Given the description of an element on the screen output the (x, y) to click on. 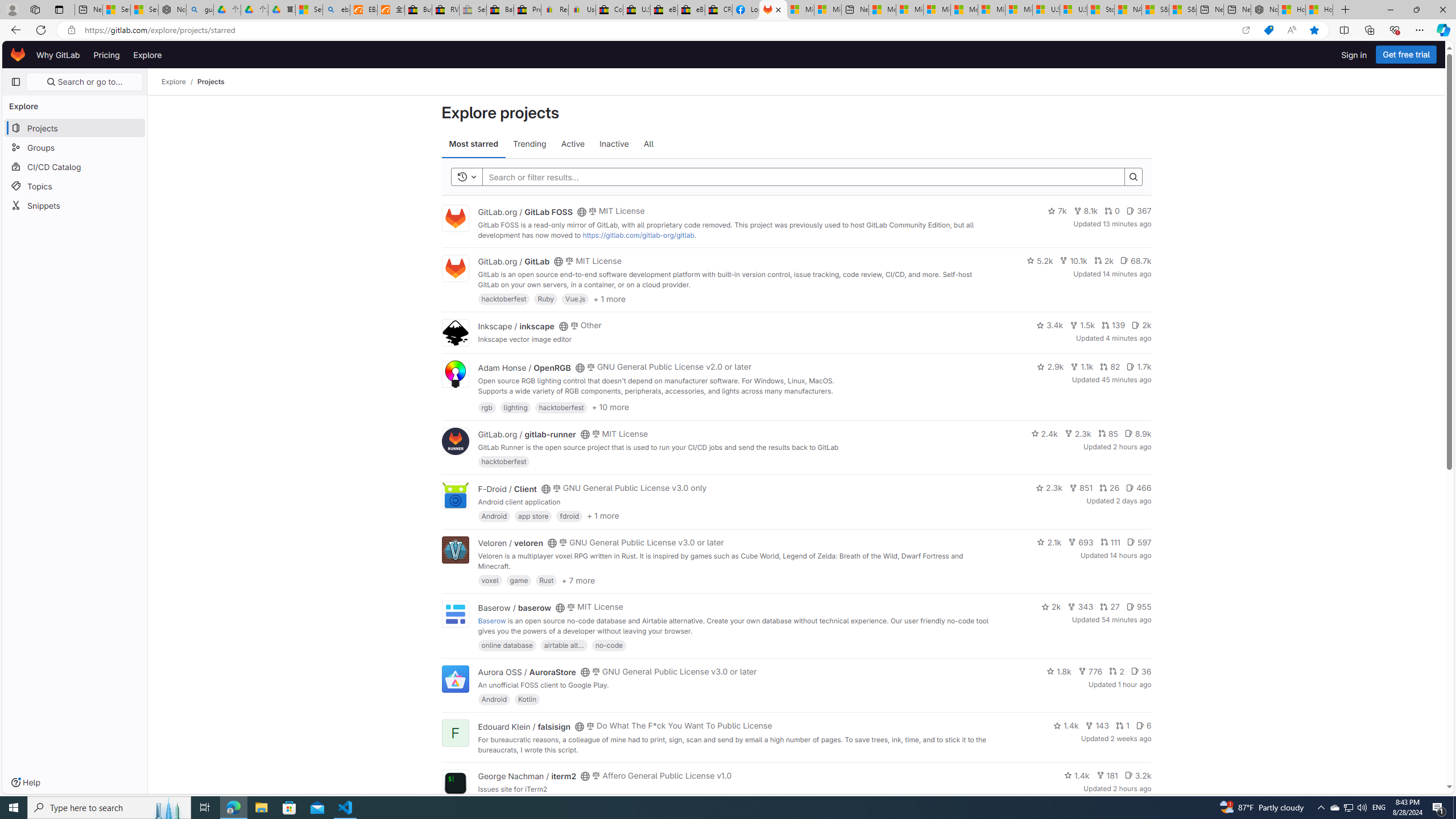
GitLab.org / gitlab-runner (526, 434)
Why GitLab (58, 54)
26 (1109, 487)
Groups (74, 147)
lighting (514, 407)
139 (1112, 325)
RV, Trailer & Camper Steps & Ladders for sale | eBay (445, 9)
